Given the description of an element on the screen output the (x, y) to click on. 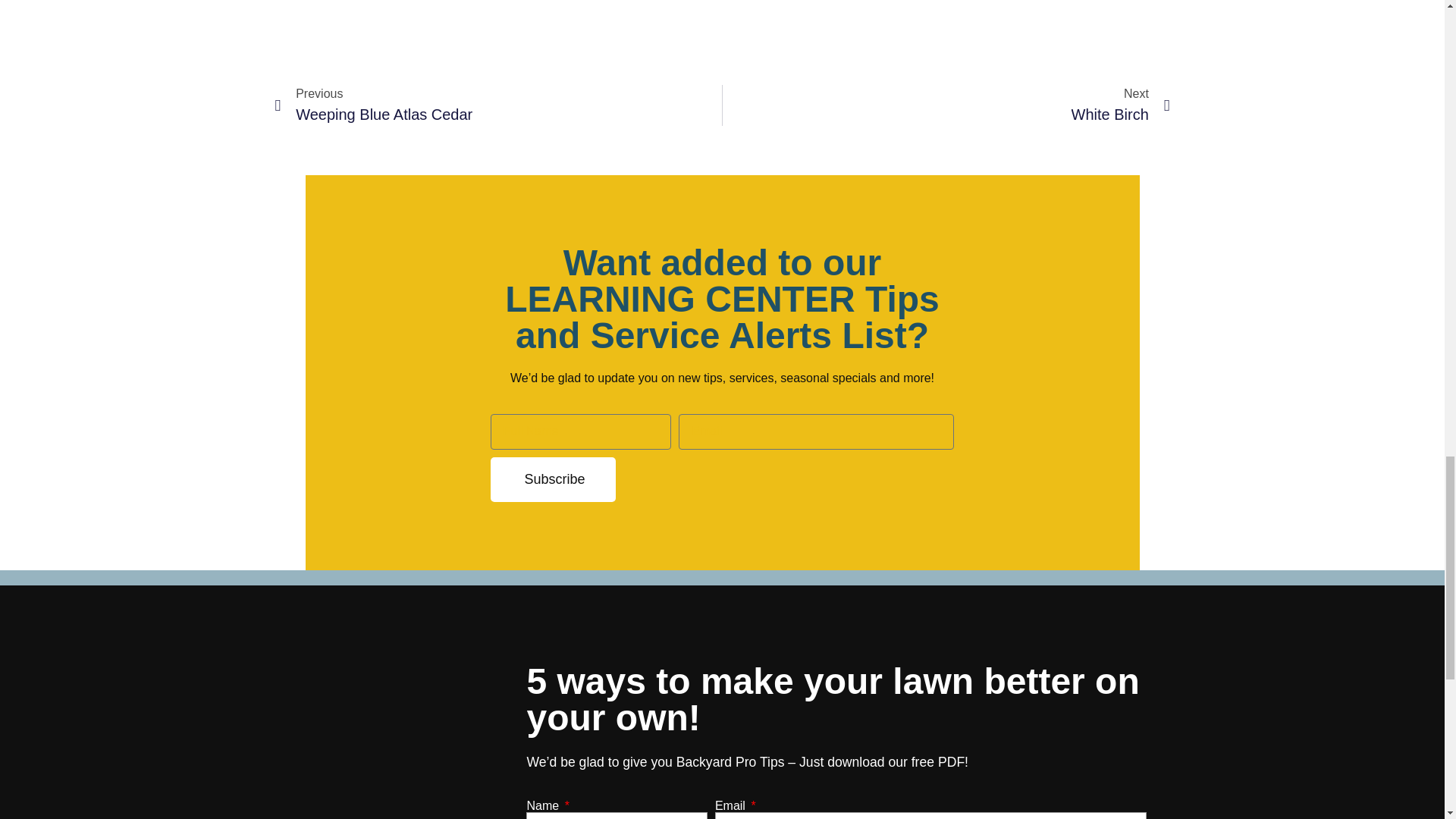
Subscribe (498, 105)
